Given the description of an element on the screen output the (x, y) to click on. 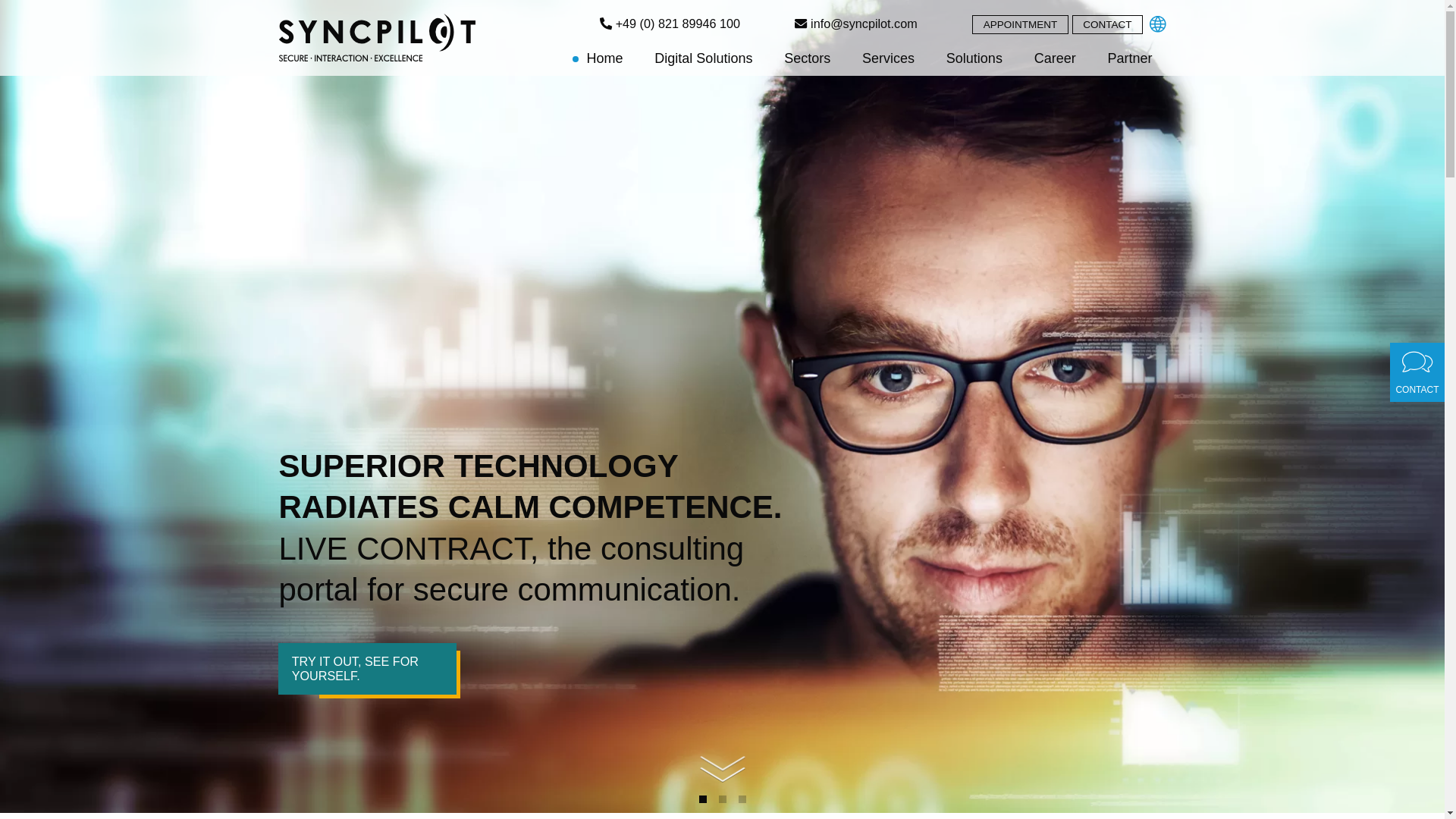
Career (1052, 60)
Solutions (972, 60)
TRY IT OUT, SEE FOR YOURSELF. (366, 668)
Home (603, 60)
Digital Solutions (702, 60)
CONTACT (1106, 24)
Partner (1127, 60)
Services (886, 60)
Sectors (804, 60)
APPOINTMENT (1020, 24)
